Given the description of an element on the screen output the (x, y) to click on. 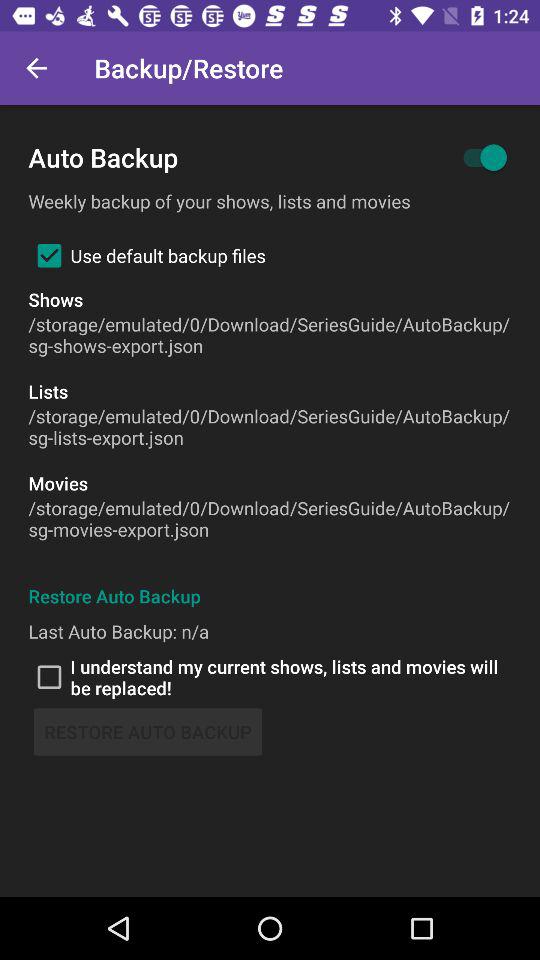
press use default backup (146, 255)
